Given the description of an element on the screen output the (x, y) to click on. 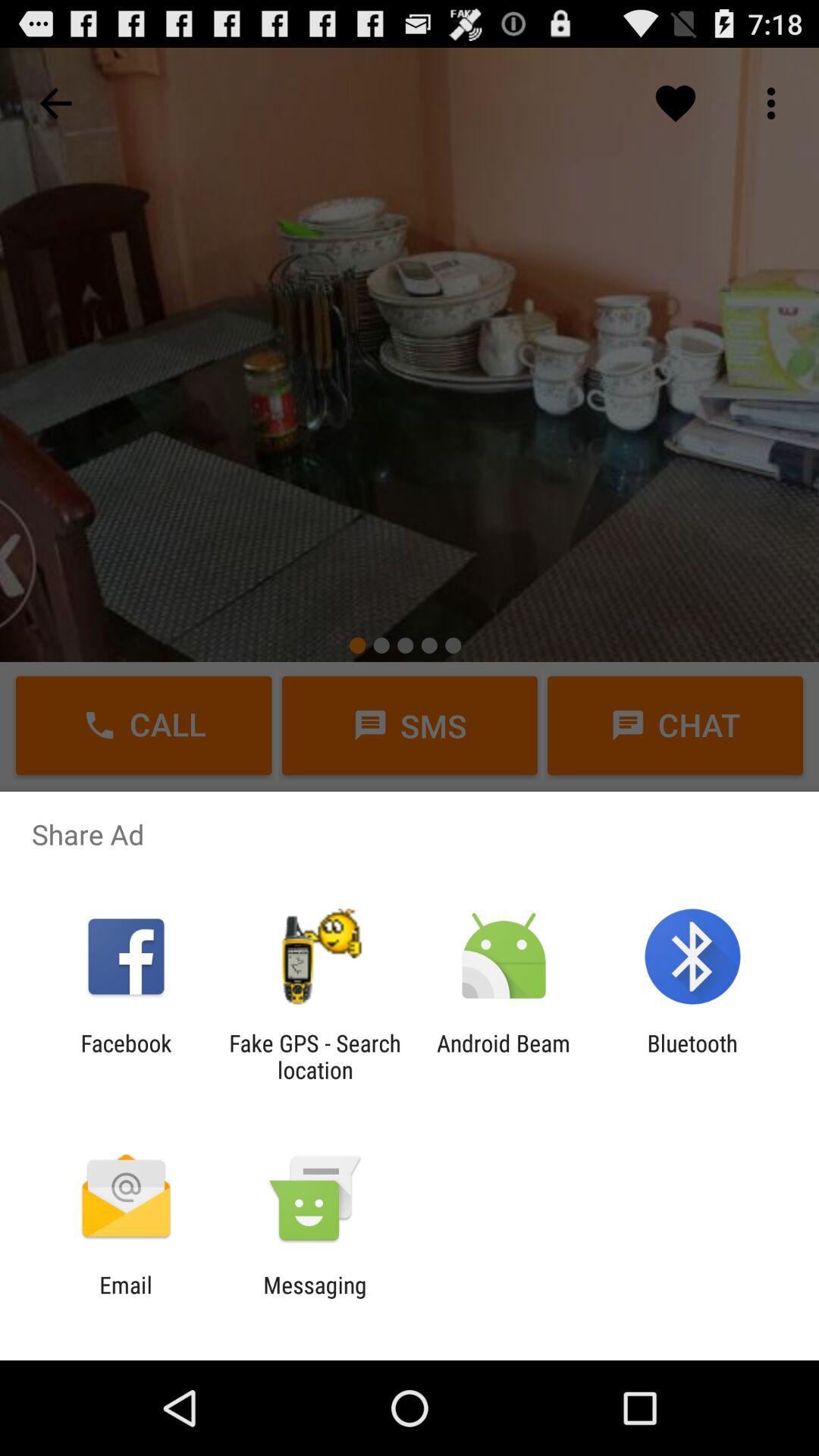
select android beam item (503, 1056)
